Given the description of an element on the screen output the (x, y) to click on. 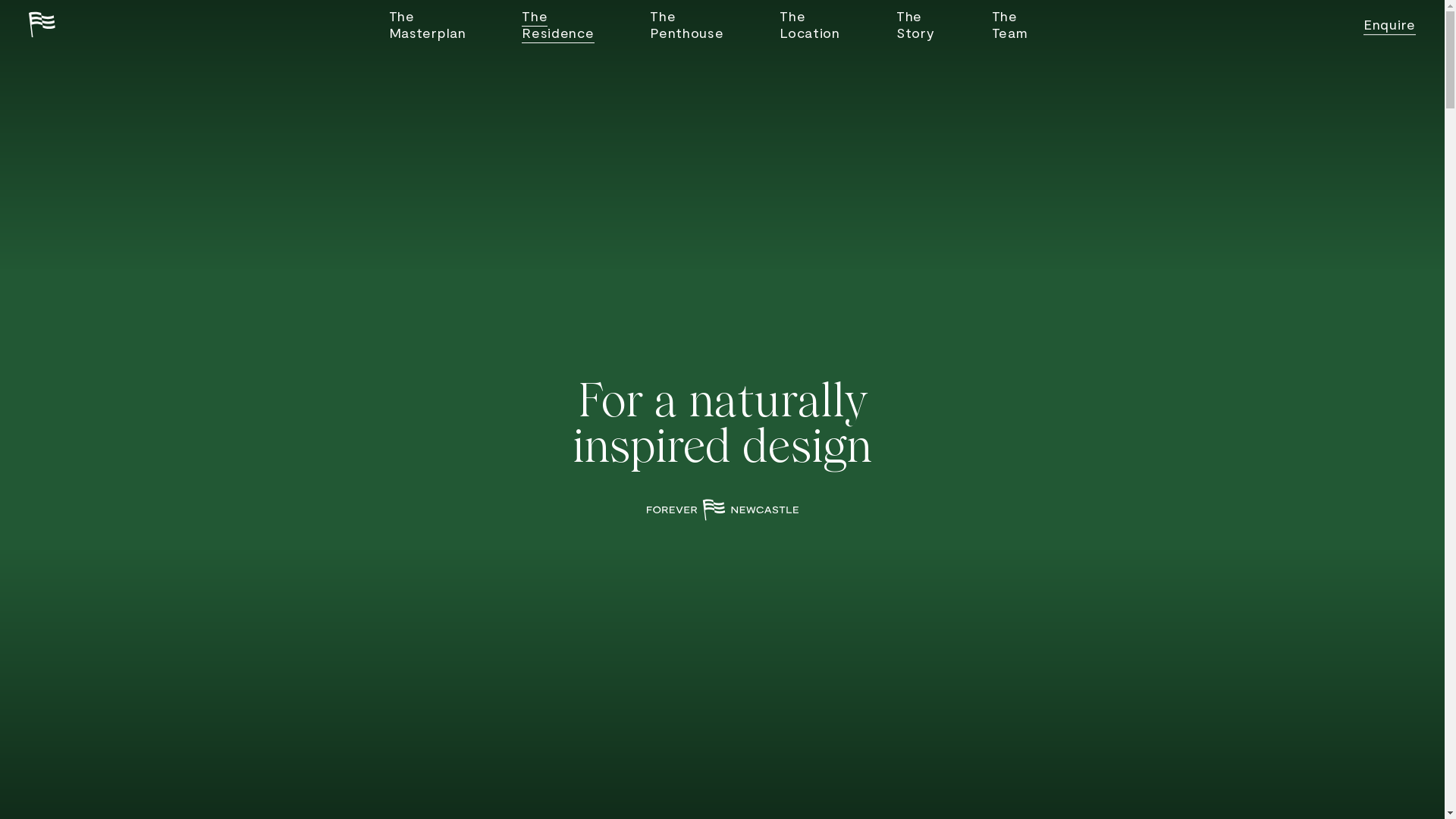
The Penthouse Element type: text (686, 24)
Enquire Element type: text (1389, 24)
The Masterplan Element type: text (426, 24)
The Residence Element type: text (557, 24)
The Story Element type: text (915, 24)
EASTEND Element type: hover (41, 24)
The Location Element type: text (809, 24)
The Team Element type: text (1009, 24)
